Given the description of an element on the screen output the (x, y) to click on. 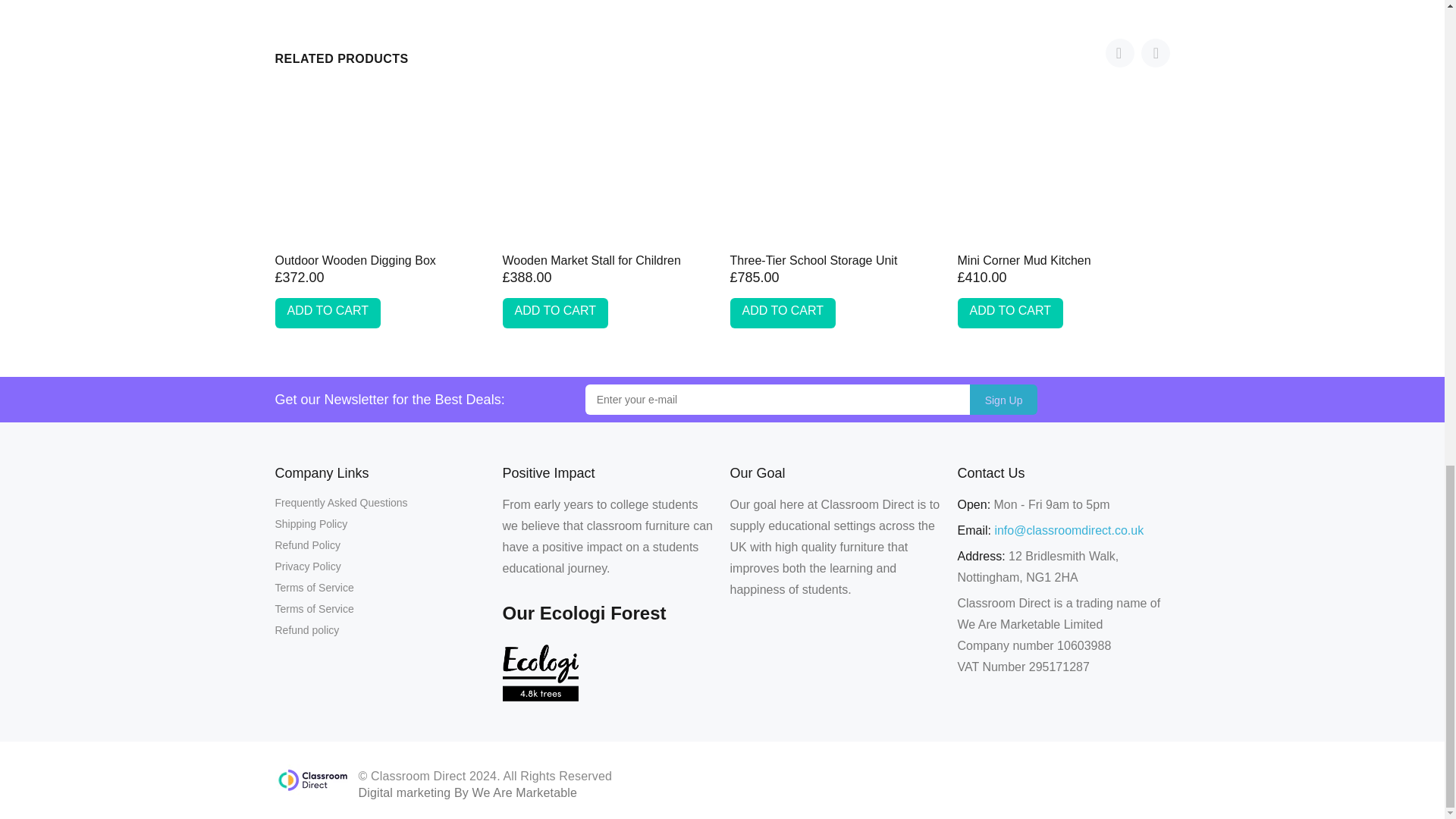
View our Ecologi profile (540, 672)
